Given the description of an element on the screen output the (x, y) to click on. 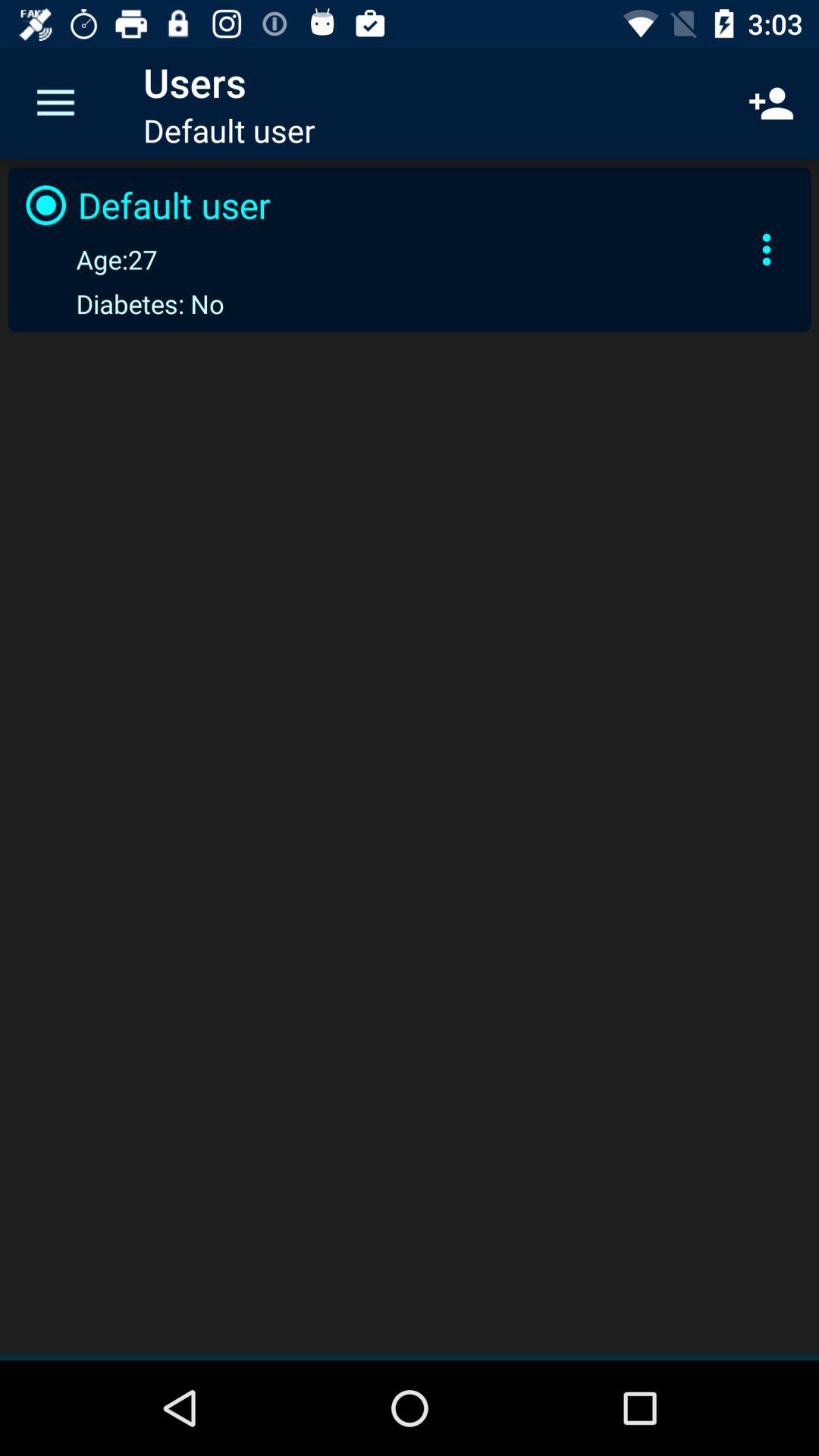
press the icon above default user item (55, 103)
